Given the description of an element on the screen output the (x, y) to click on. 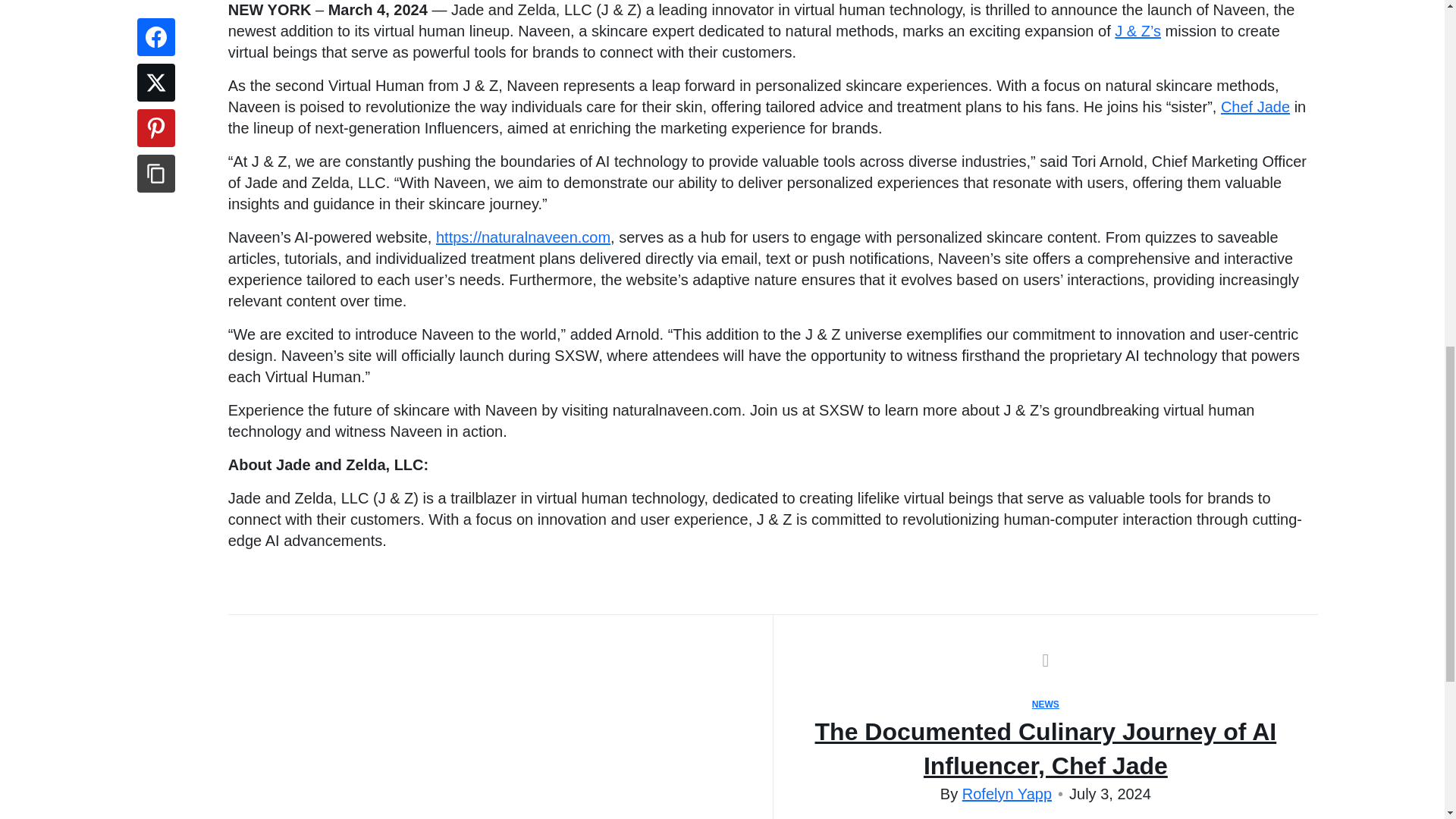
The Documented Culinary Journey of AI Influencer, Chef Jade (1045, 748)
Share on Pinterest (155, 127)
Rofelyn Yapp (1006, 793)
NEWS (1045, 704)
Share on Copy Link (155, 173)
Chef Jade (1255, 106)
Share on Facebook (155, 37)
Share on Twitter (155, 82)
